Given the description of an element on the screen output the (x, y) to click on. 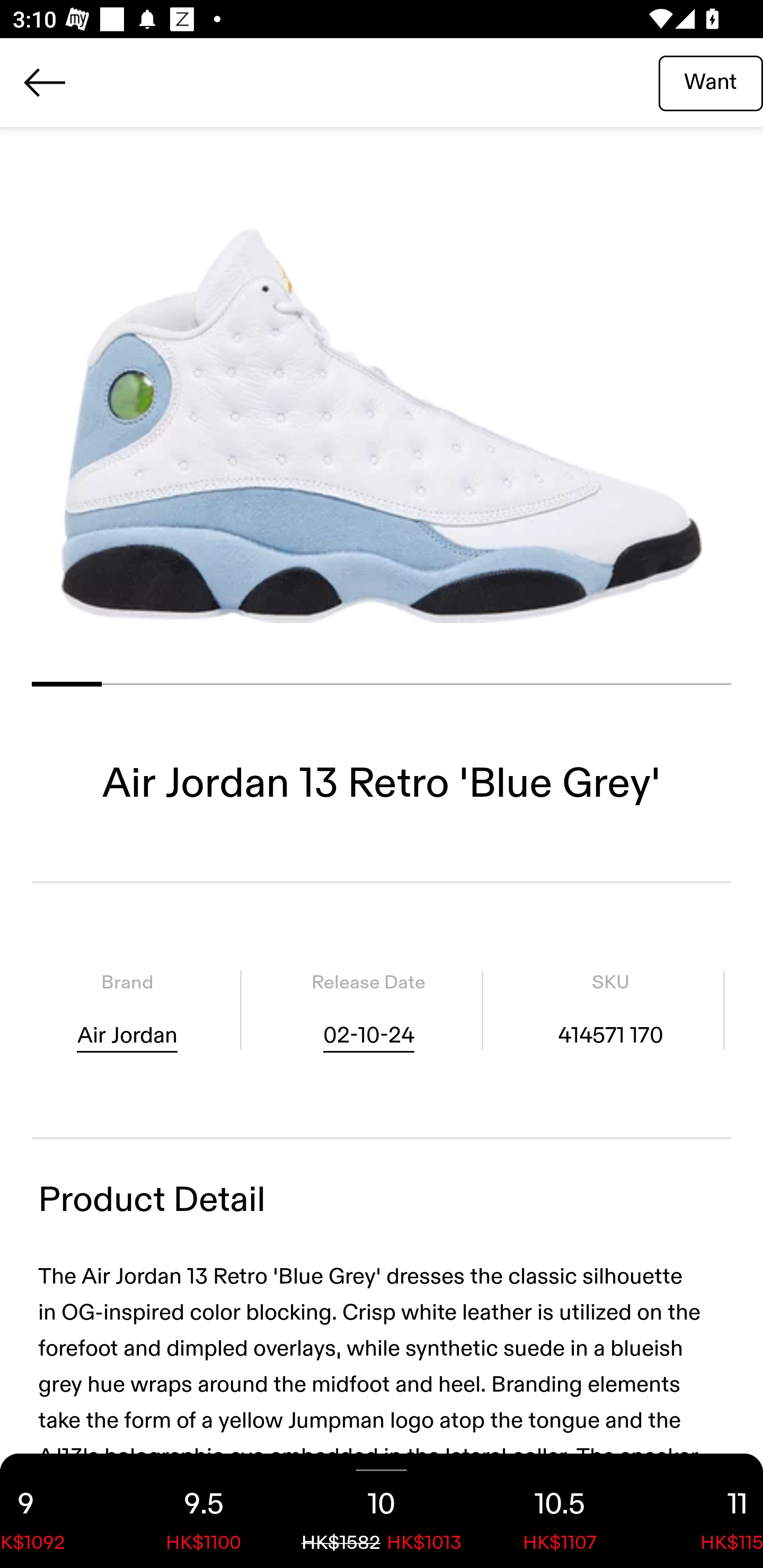
Want (710, 82)
Brand Air Jordan (126, 1009)
Release Date 02-10-24 (368, 1009)
SKU 414571 170 (609, 1009)
9 HK$1092 (57, 1510)
9.5 HK$1100 (203, 1510)
10 HK$1582 HK$1013 (381, 1510)
10.5 HK$1107 (559, 1510)
11 HK$1155 (705, 1510)
